Given the description of an element on the screen output the (x, y) to click on. 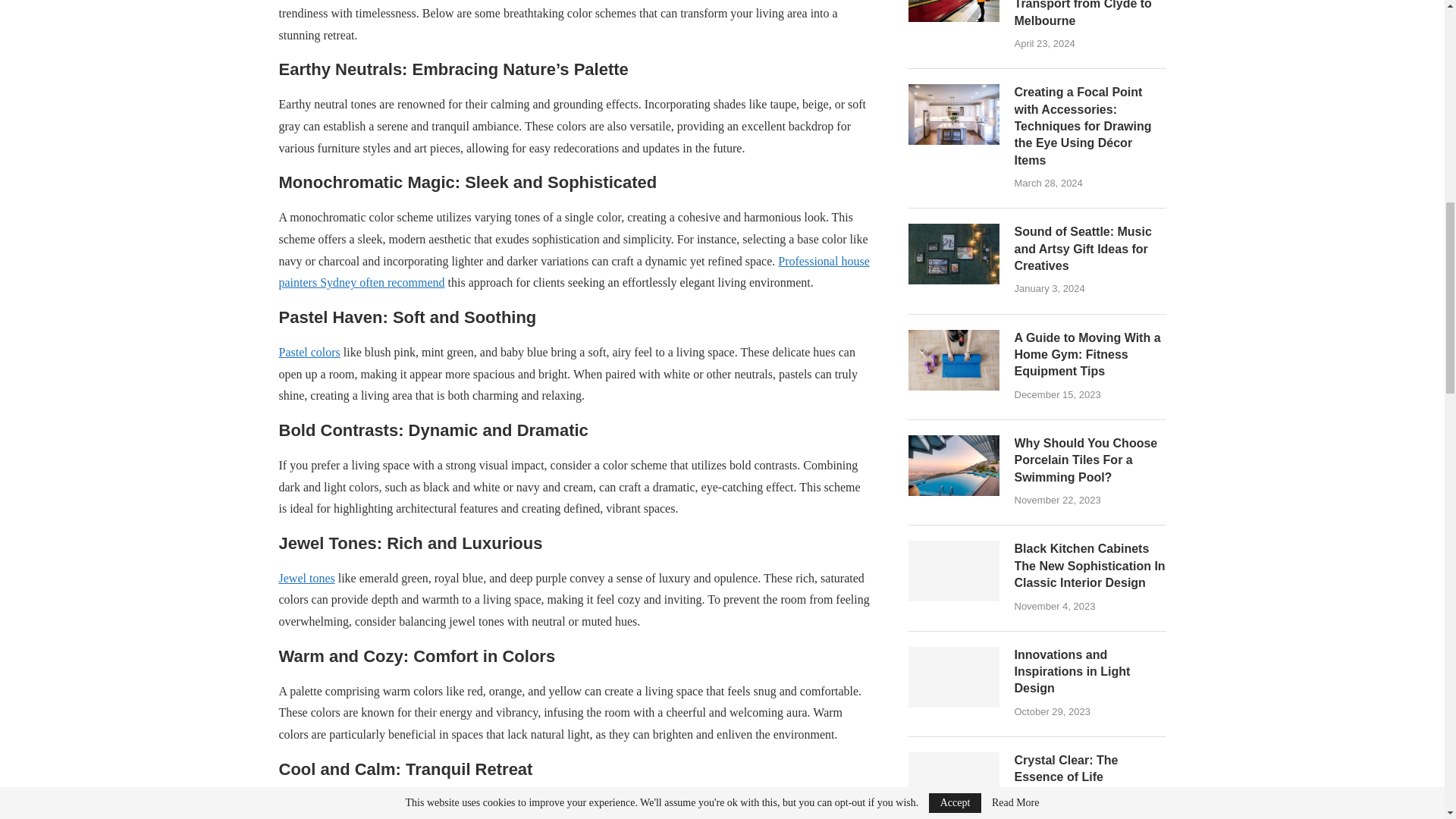
Jewel tones (306, 577)
Professional house painters Sydney often recommend (574, 271)
Pastel colors (309, 351)
